Given the description of an element on the screen output the (x, y) to click on. 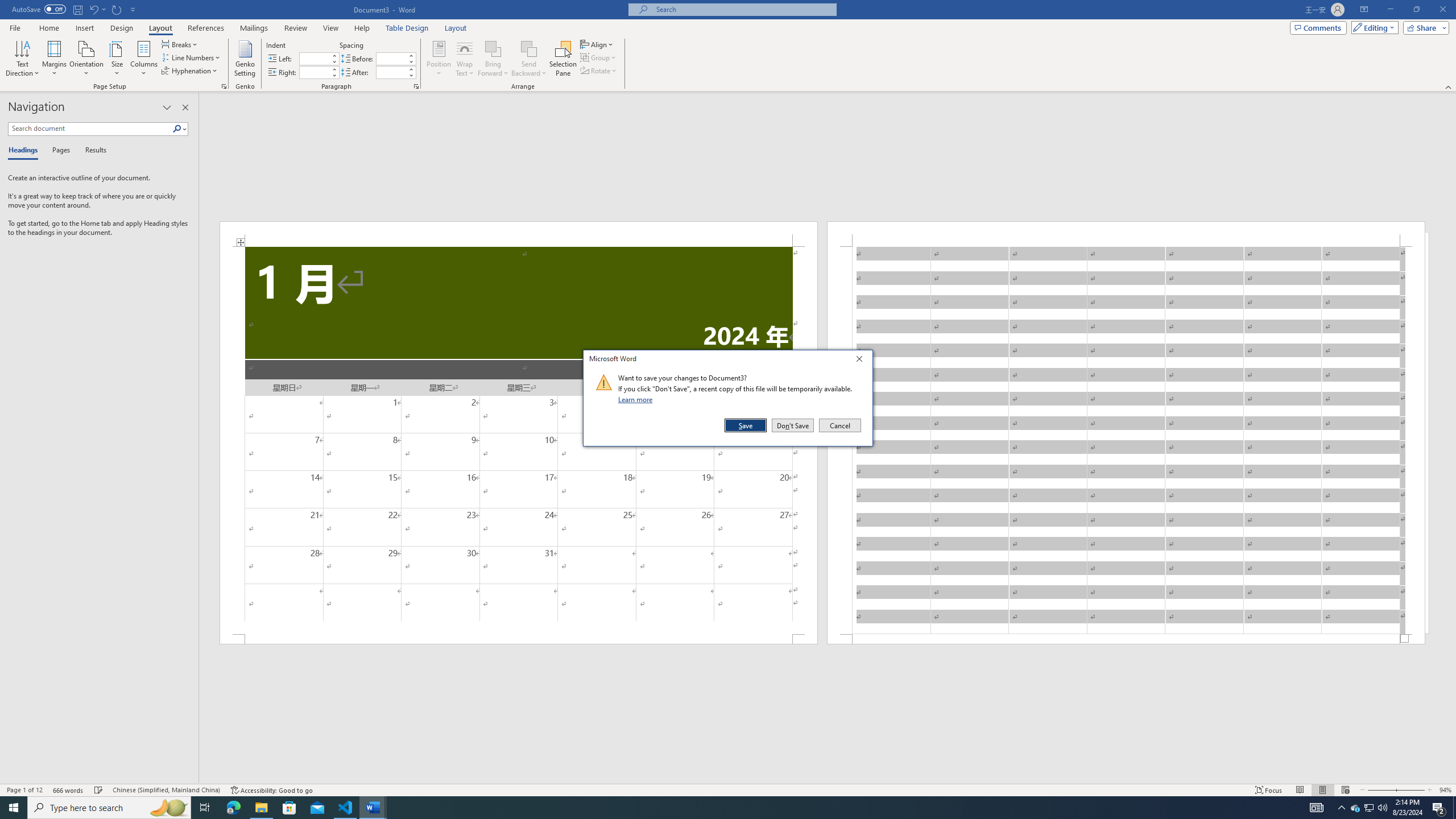
Undo Insert Row Below (96, 9)
Bring Forward (492, 58)
Send Backward (528, 48)
More (411, 69)
